Given the description of an element on the screen output the (x, y) to click on. 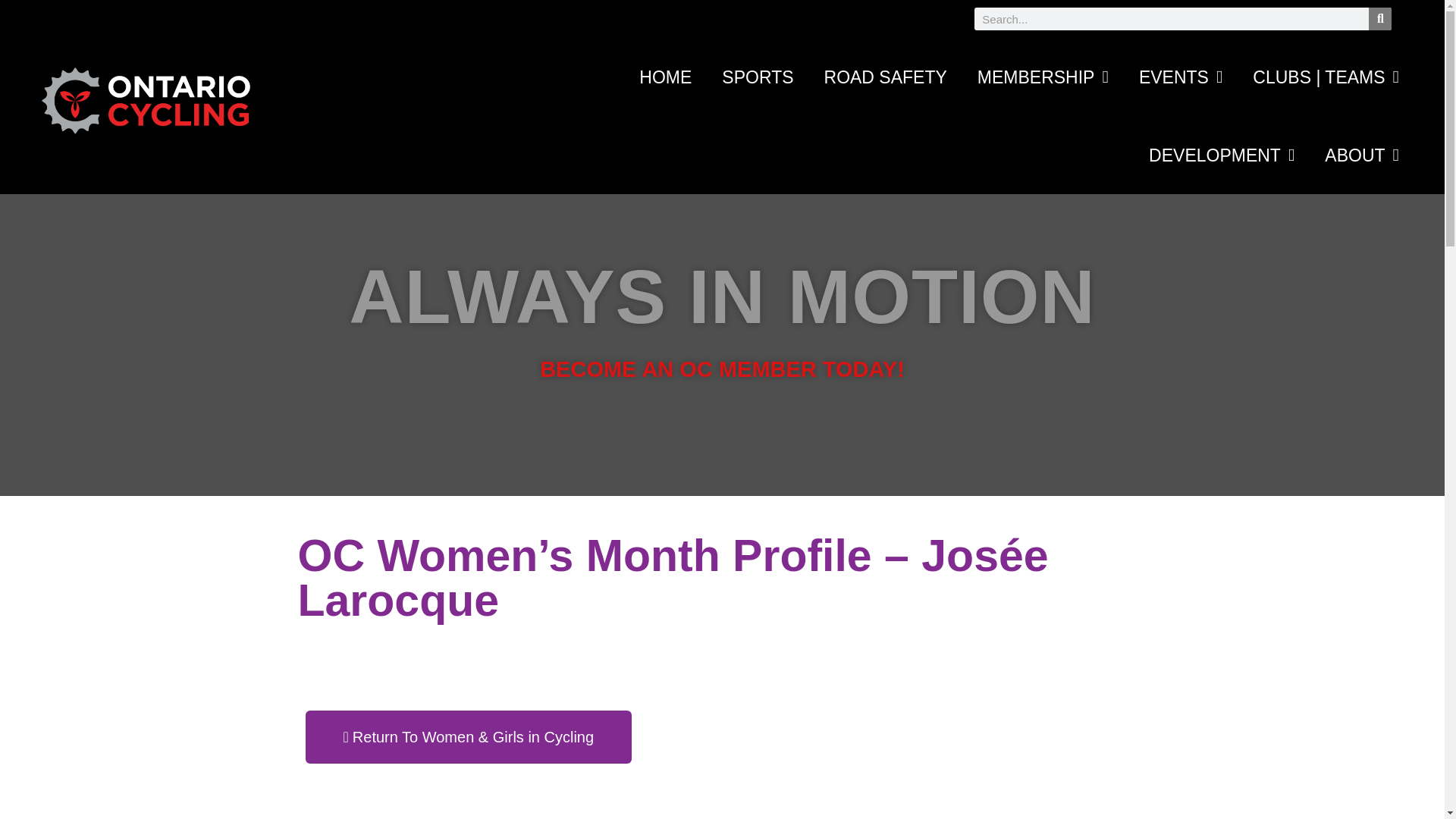
SPORTS (757, 76)
MEMBERSHIP (1043, 76)
EVENTS (1180, 76)
ABOUT (1360, 155)
HOME (665, 76)
DEVELOPMENT (1221, 155)
ROAD SAFETY (885, 76)
